Given the description of an element on the screen output the (x, y) to click on. 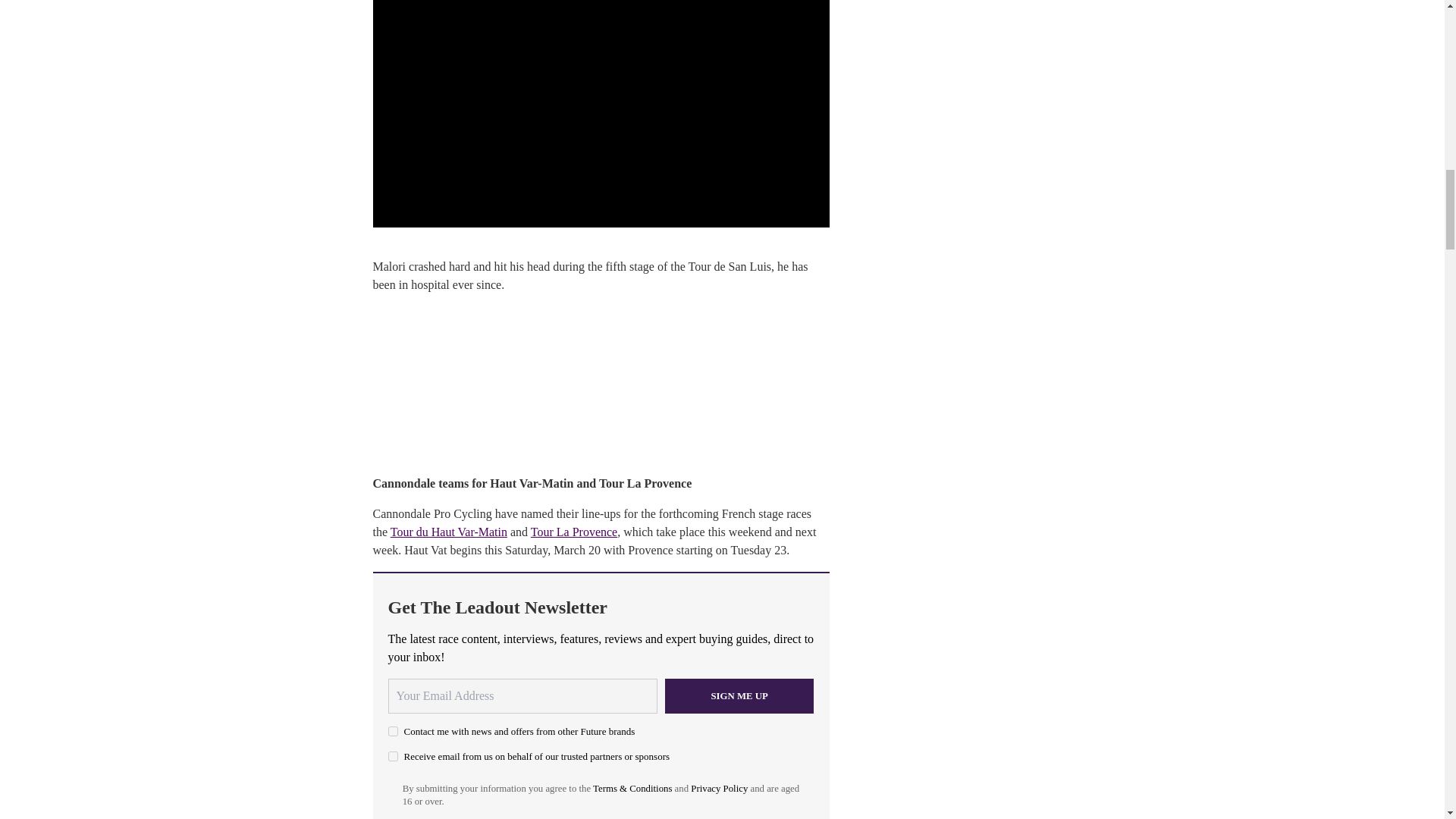
on (392, 731)
Sign me up (739, 695)
on (392, 756)
